Given the description of an element on the screen output the (x, y) to click on. 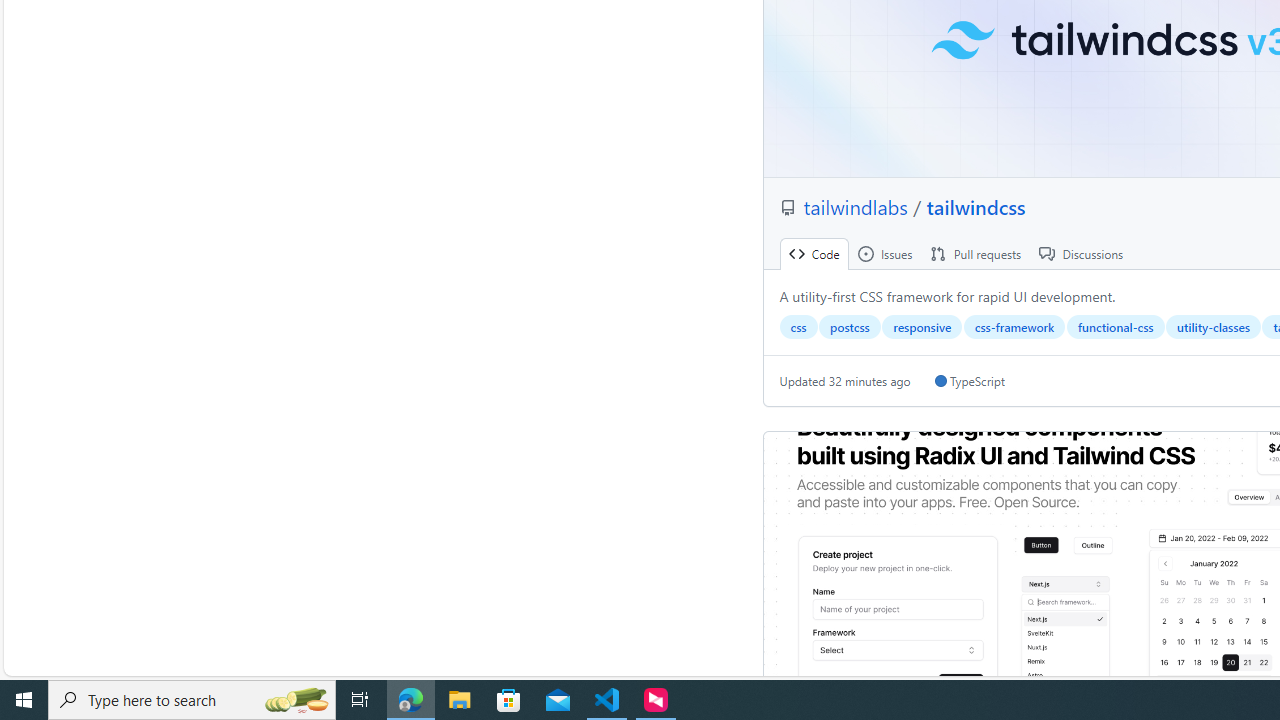
 Code (813, 254)
 Issues (884, 254)
 Discussions (1081, 254)
css (798, 327)
Updated 32 minutes ago (845, 381)
 Pull requests (975, 254)
tailwindcss (975, 206)
responsive (921, 327)
 Discussions (1081, 254)
TypeScript (969, 381)
tailwindlabs  (857, 206)
 Code (813, 254)
 Issues (884, 254)
functional-css (1115, 327)
 Pull requests (975, 254)
